Given the description of an element on the screen output the (x, y) to click on. 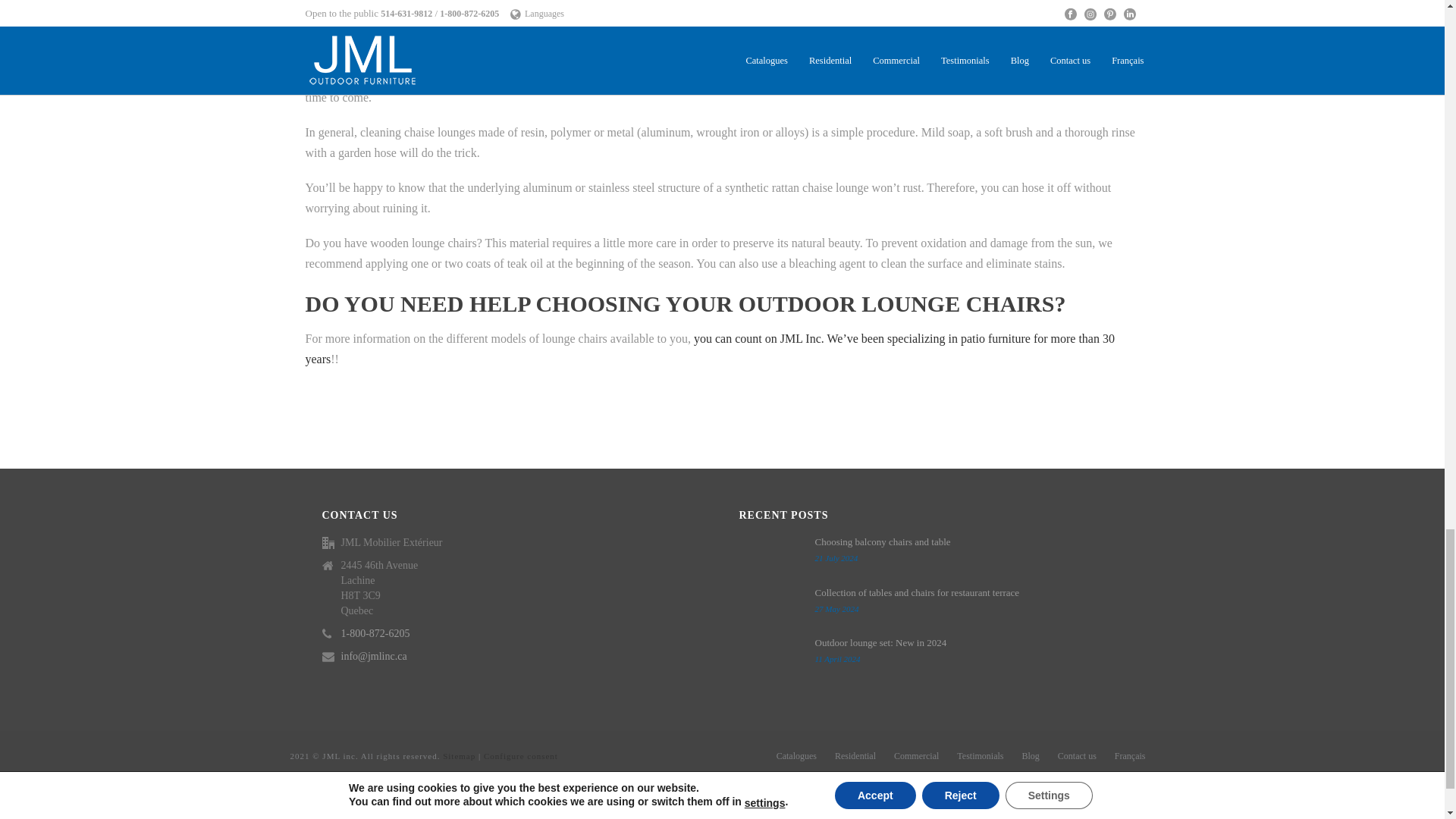
Collection of tables and chairs for restaurant terrace (768, 607)
Outdoor lounge set: New in 2024 (768, 657)
Choosing balcony chairs and table (768, 556)
